Given the description of an element on the screen output the (x, y) to click on. 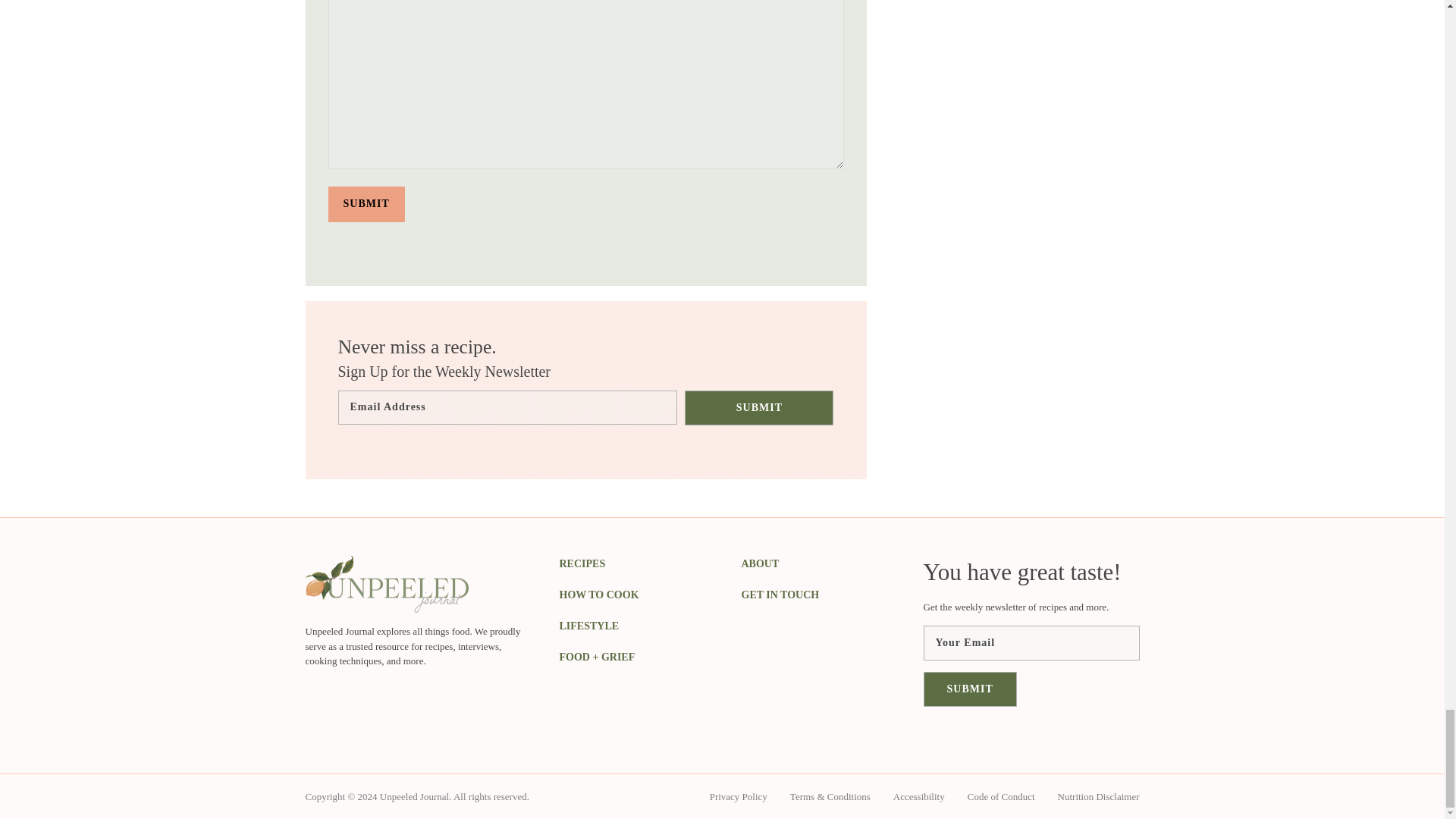
Submit (365, 203)
